Given the description of an element on the screen output the (x, y) to click on. 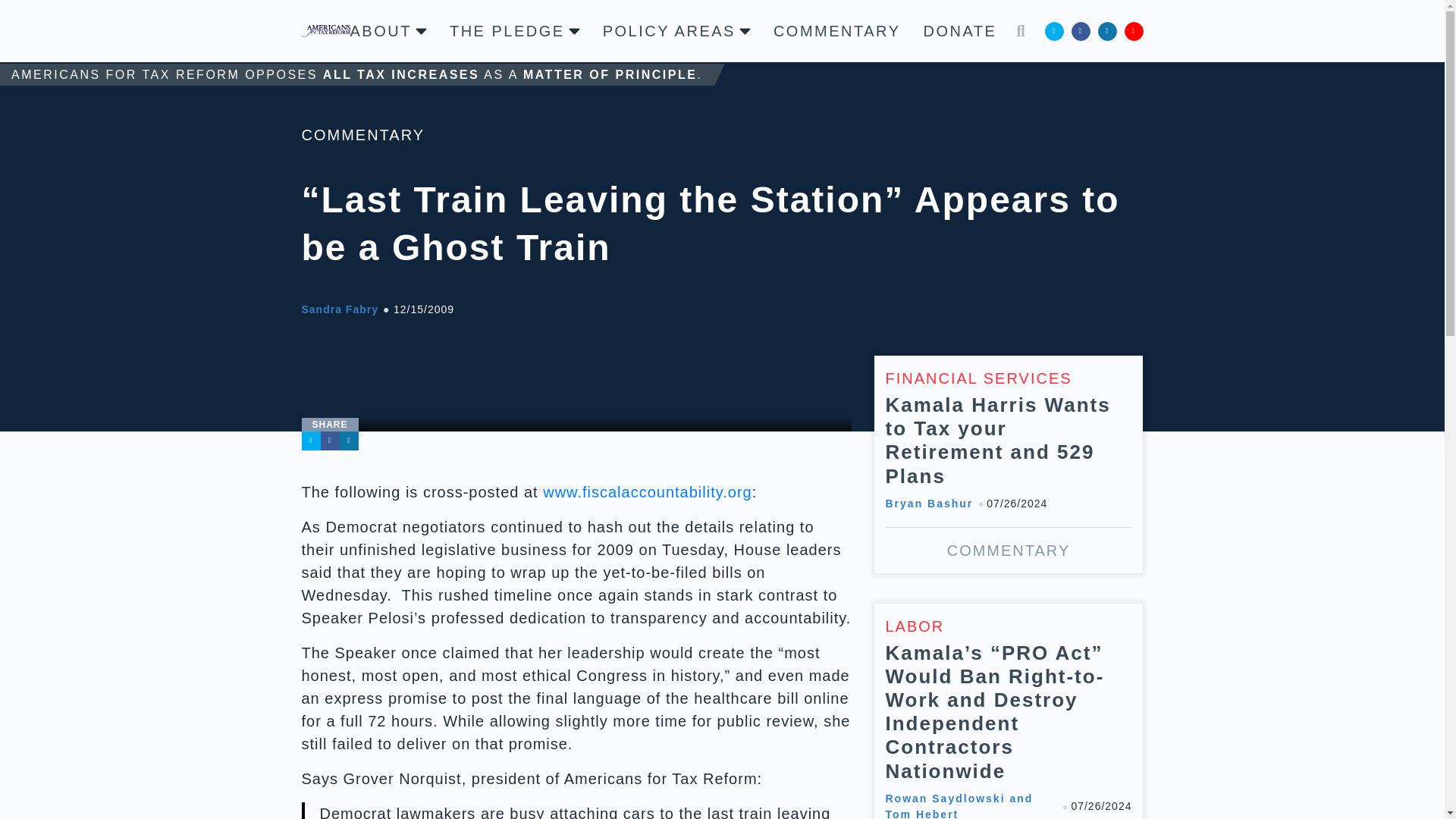
Kamala Harris Wants to Tax your Retirement and 529 Plans (1007, 464)
YouTube (1133, 30)
Twitter (1054, 30)
COMMENTARY (837, 30)
Sandra Fabry (339, 309)
COMMENTARY (363, 134)
THE PLEDGE (514, 30)
DONATE (960, 30)
Facebook (329, 440)
www.fiscalaccountability.org (647, 492)
ABOUT (388, 30)
LinkedIn (1106, 30)
Facebook (1079, 30)
LinkedIn (348, 440)
Twitter (310, 440)
